Given the description of an element on the screen output the (x, y) to click on. 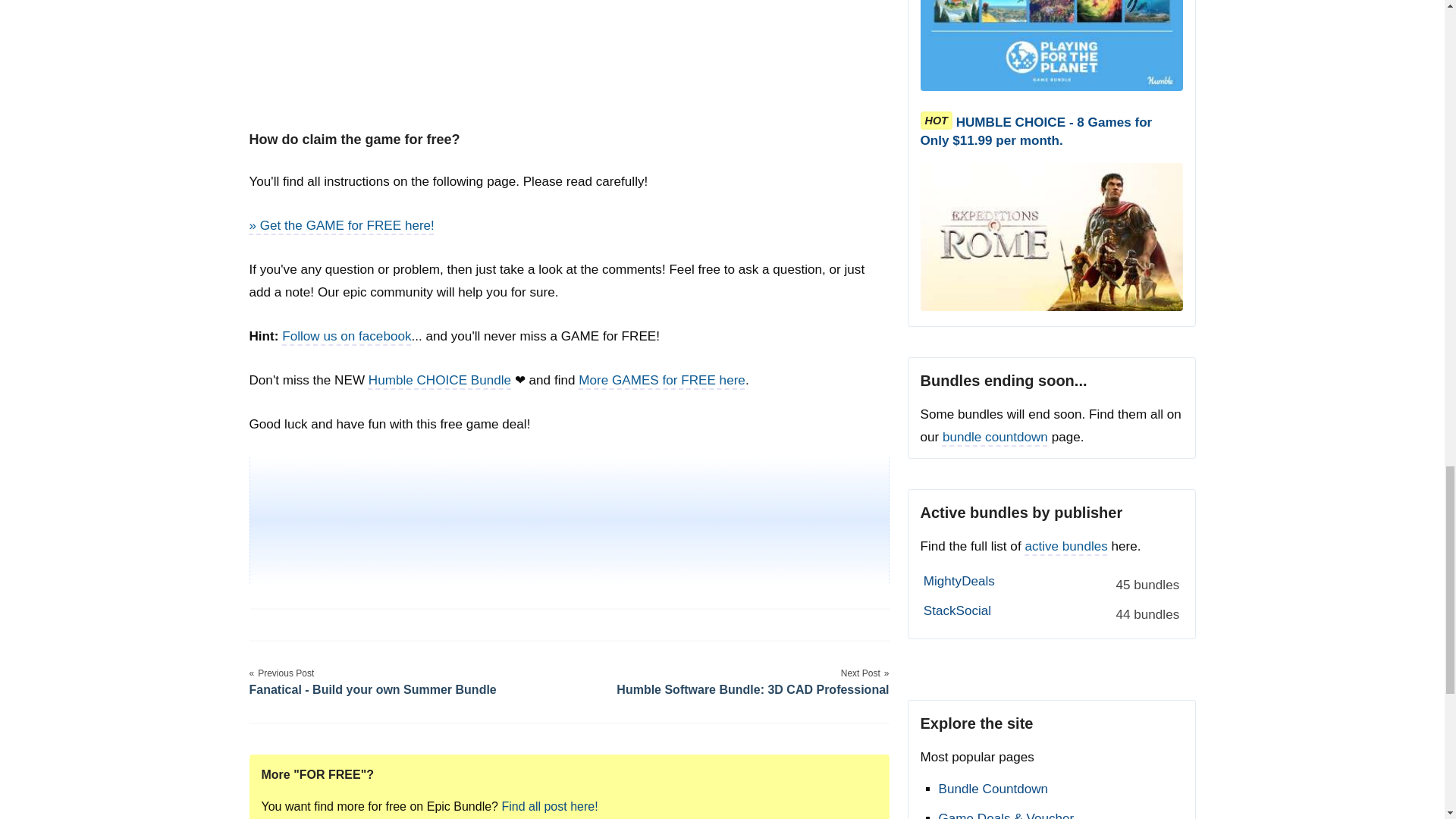
More GAMES for FREE here (661, 380)
Humble CHOICE Bundle (439, 380)
Get this great game for free! (340, 225)
Follow us on facebook (346, 336)
